Given the description of an element on the screen output the (x, y) to click on. 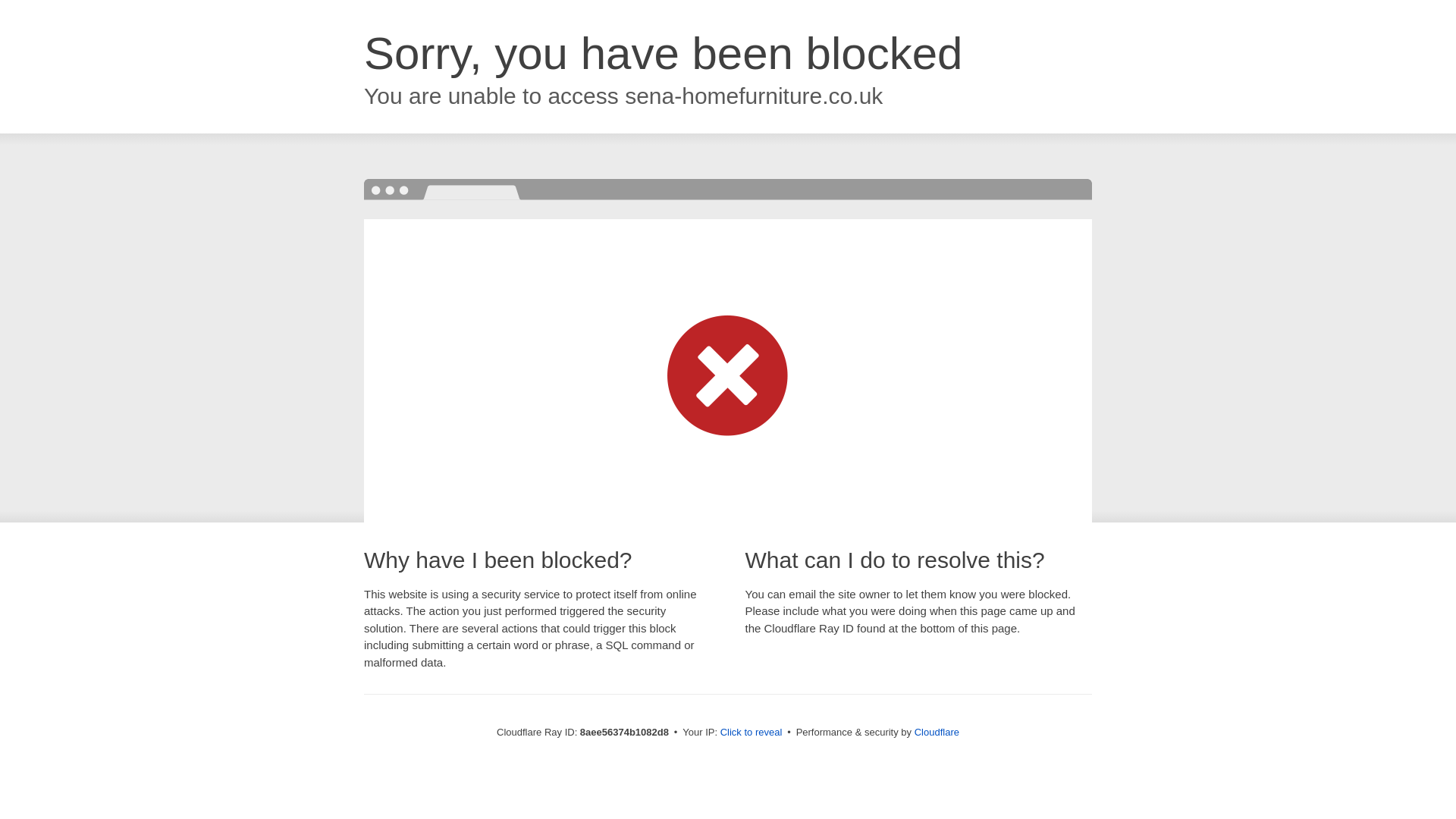
Cloudflare (936, 731)
Click to reveal (751, 732)
